Given the description of an element on the screen output the (x, y) to click on. 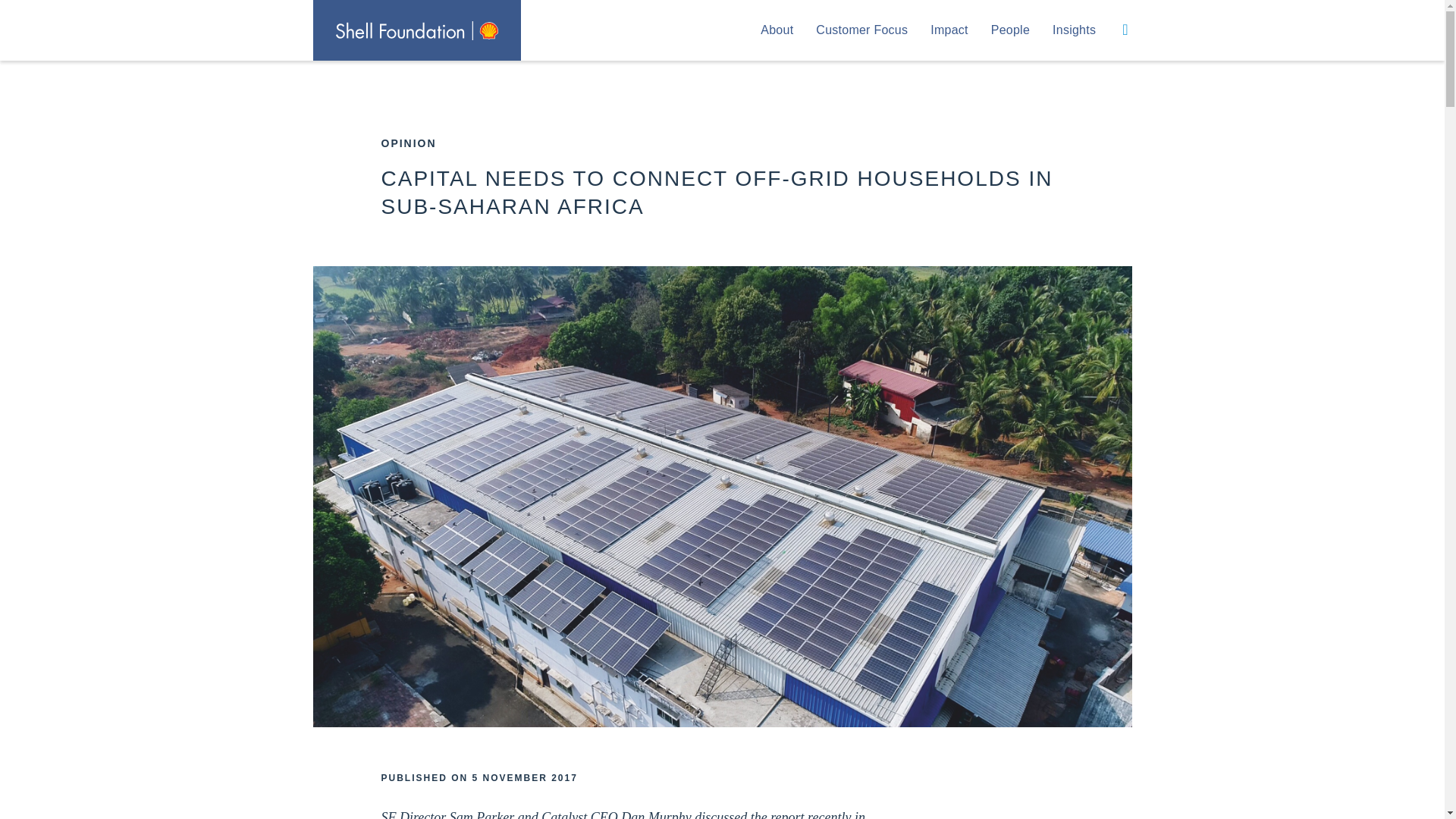
People (1010, 30)
Impact (948, 30)
Insights (1073, 30)
About (777, 30)
Customer Focus (861, 30)
